Given the description of an element on the screen output the (x, y) to click on. 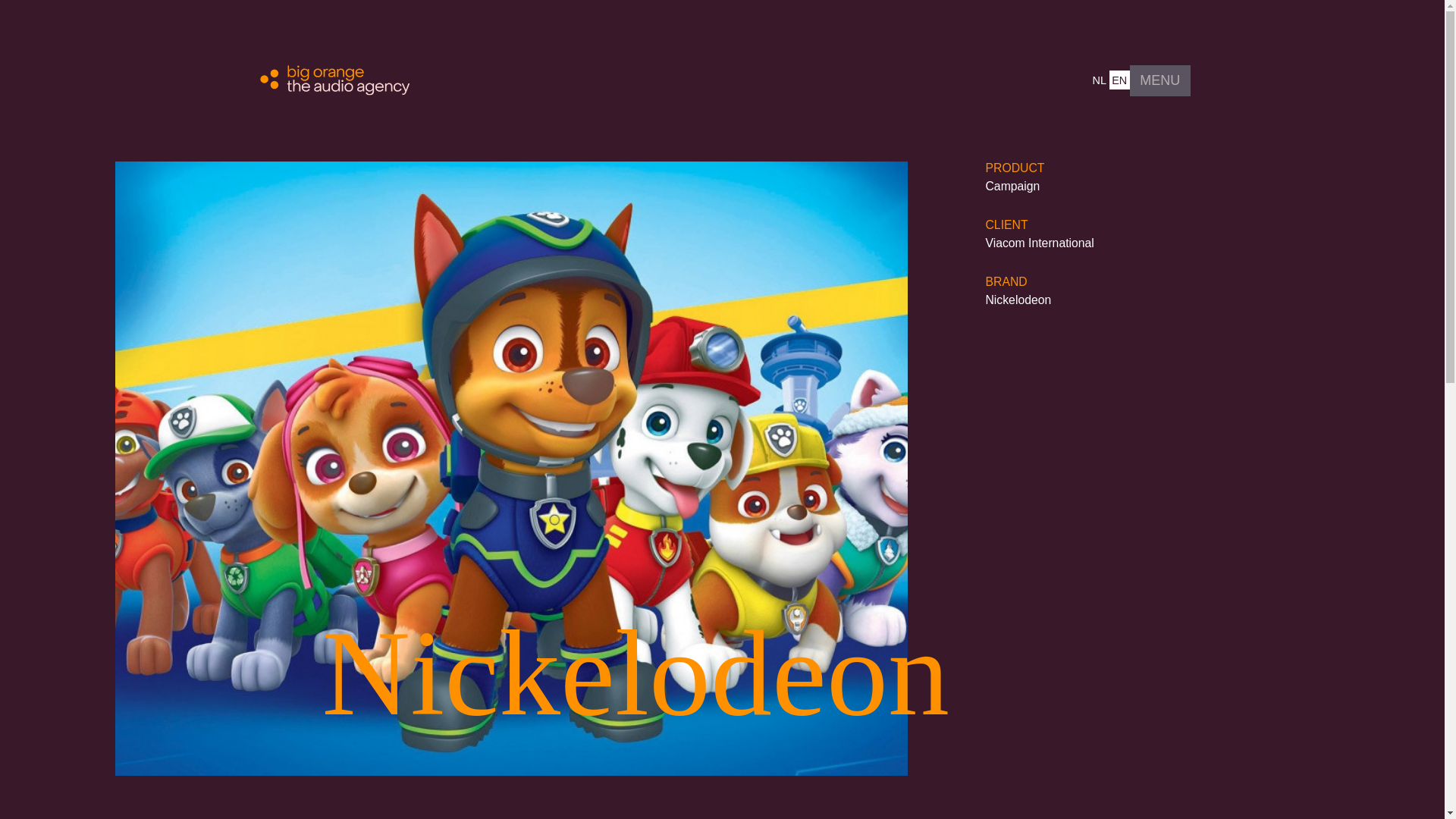
NL (1099, 79)
MENU (1160, 80)
